Given the description of an element on the screen output the (x, y) to click on. 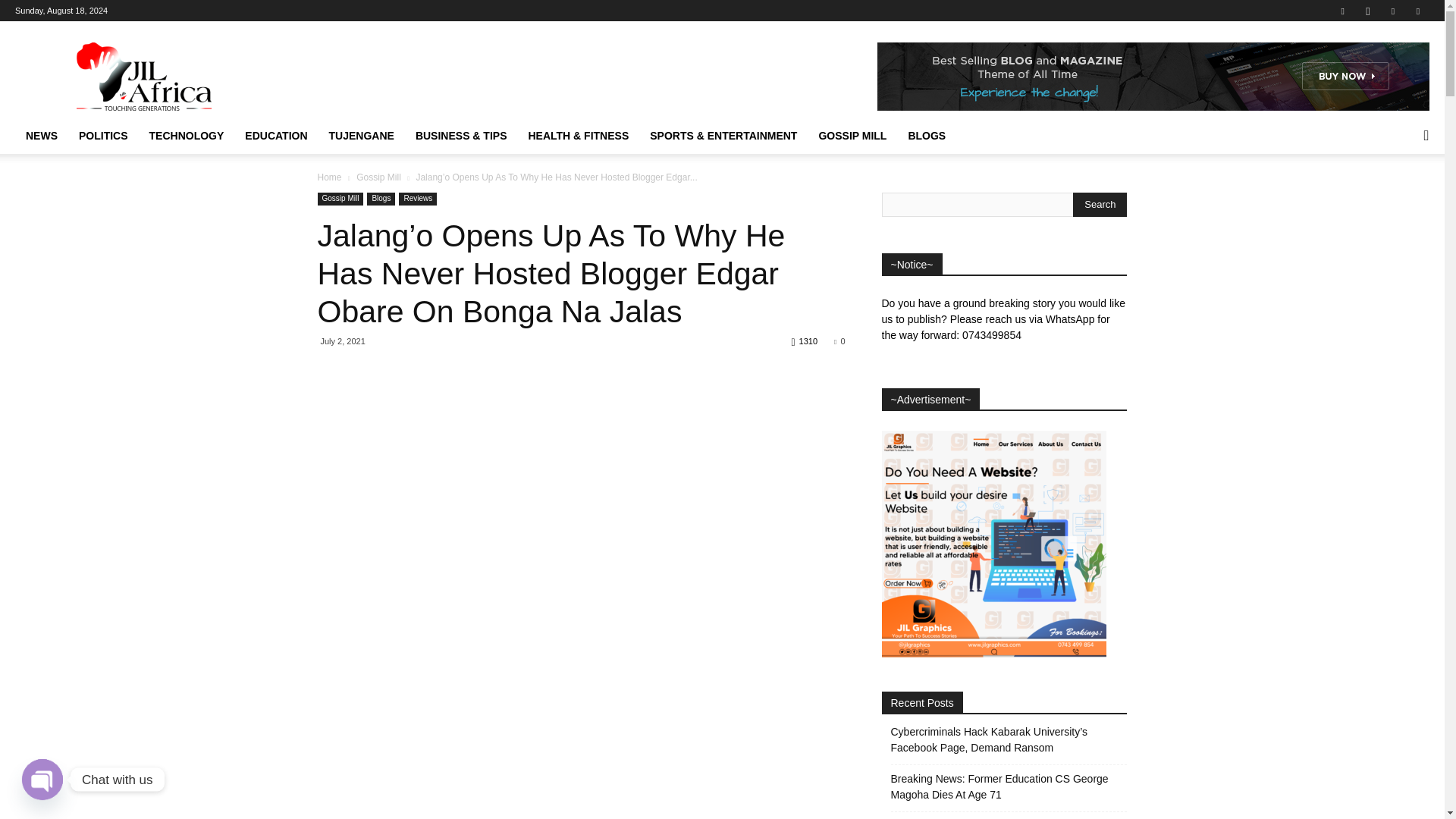
View all posts in Gossip Mill (378, 176)
Instagram (1367, 10)
Linkedin (1393, 10)
Twitter (1417, 10)
Facebook (1343, 10)
Search (1099, 204)
